Given the description of an element on the screen output the (x, y) to click on. 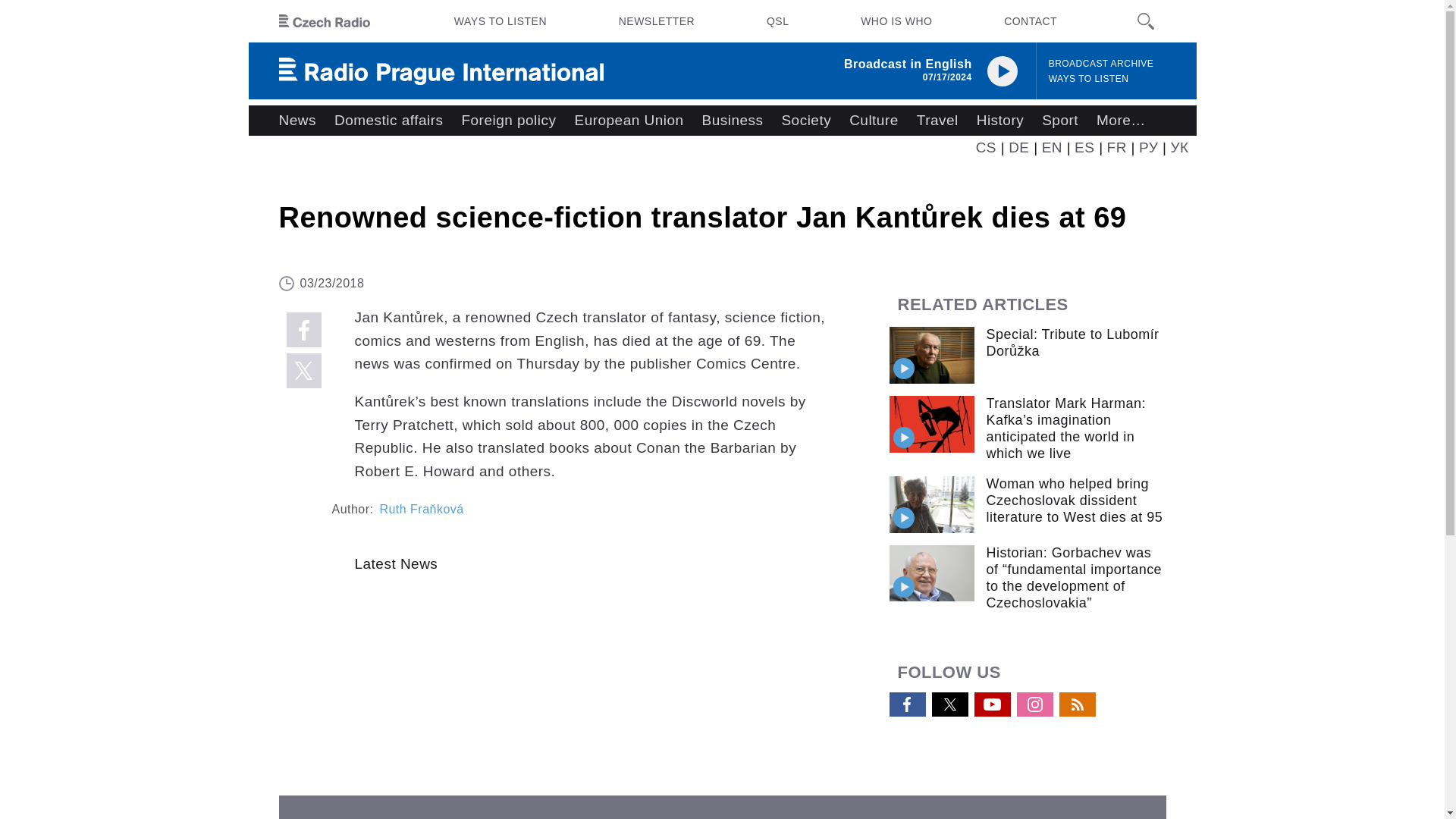
European Union (628, 120)
WHO IS WHO (896, 21)
EN (1052, 147)
Foreign policy (507, 120)
DE (1019, 147)
Czech Radio (324, 21)
ES (1084, 147)
Sport (1059, 120)
BROADCAST ARCHIVE (1101, 63)
Travel (937, 120)
WAYS TO LISTEN (1088, 78)
News (296, 120)
Business (733, 120)
Domestic affairs (388, 120)
